Given the description of an element on the screen output the (x, y) to click on. 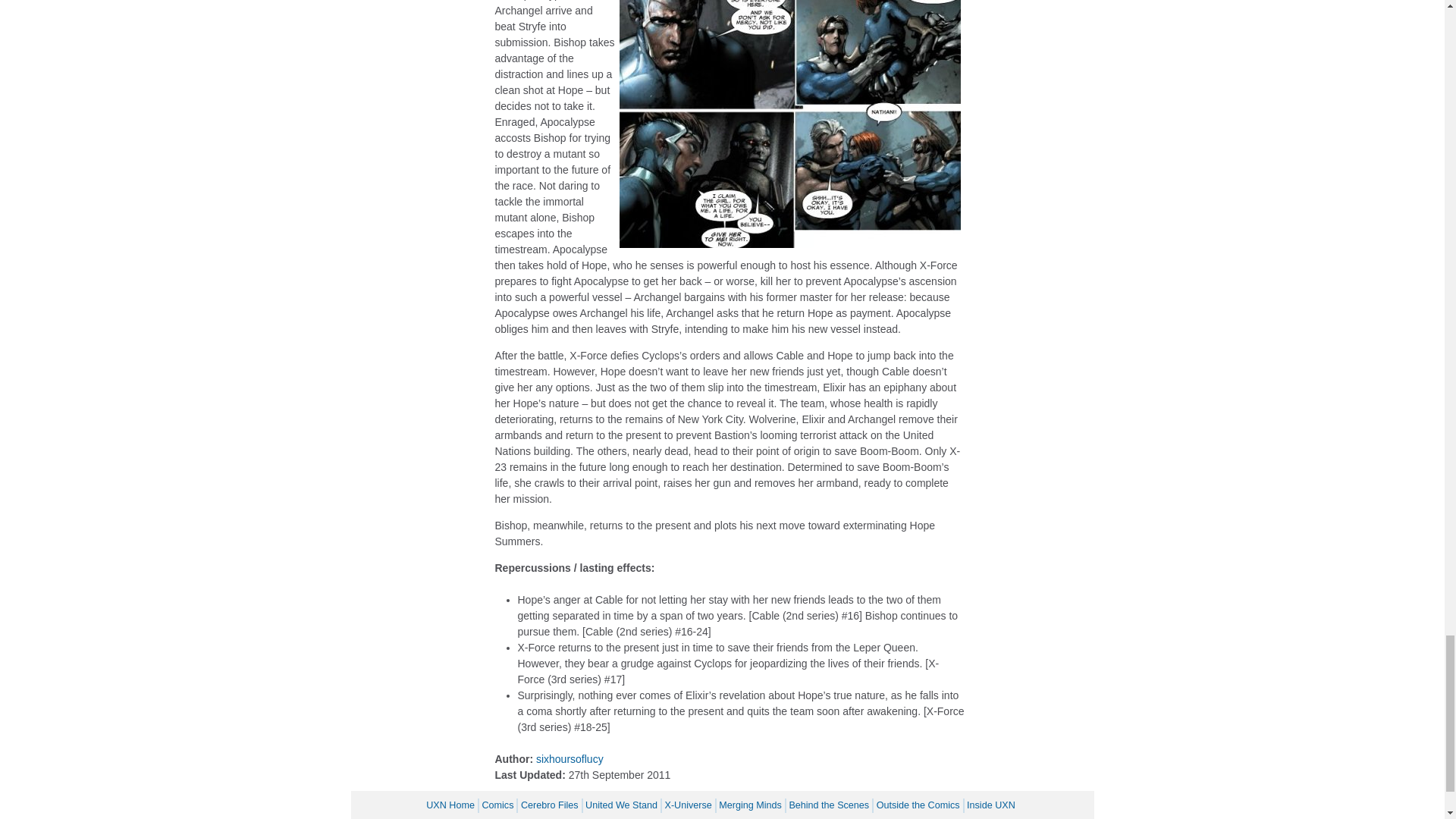
sixhoursoflucy (569, 758)
